Given the description of an element on the screen output the (x, y) to click on. 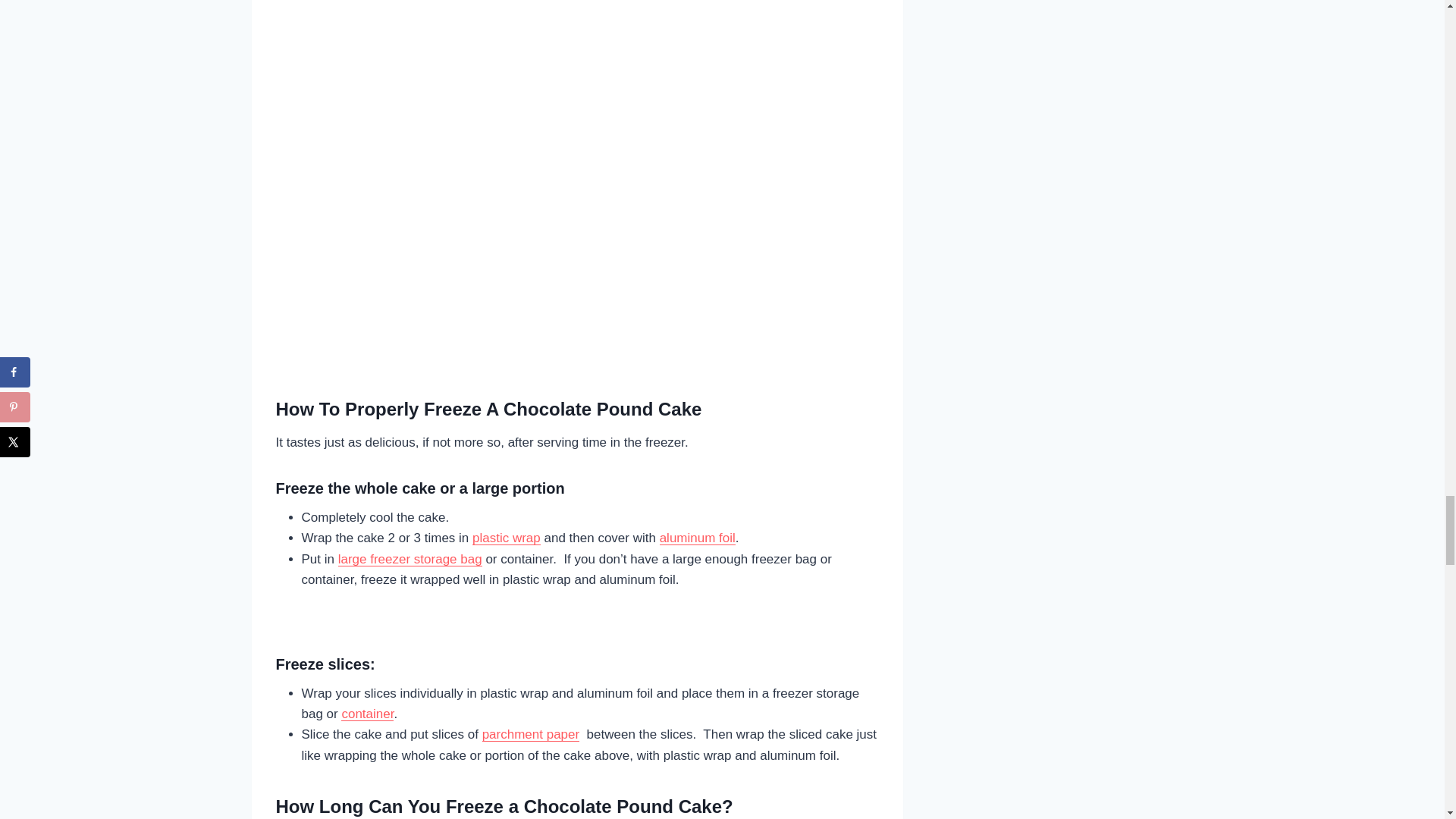
container (366, 713)
parchment paper (530, 734)
large freezer storage (397, 559)
plastic wrap (505, 537)
aluminum foil (697, 537)
 bag (469, 559)
